Given the description of an element on the screen output the (x, y) to click on. 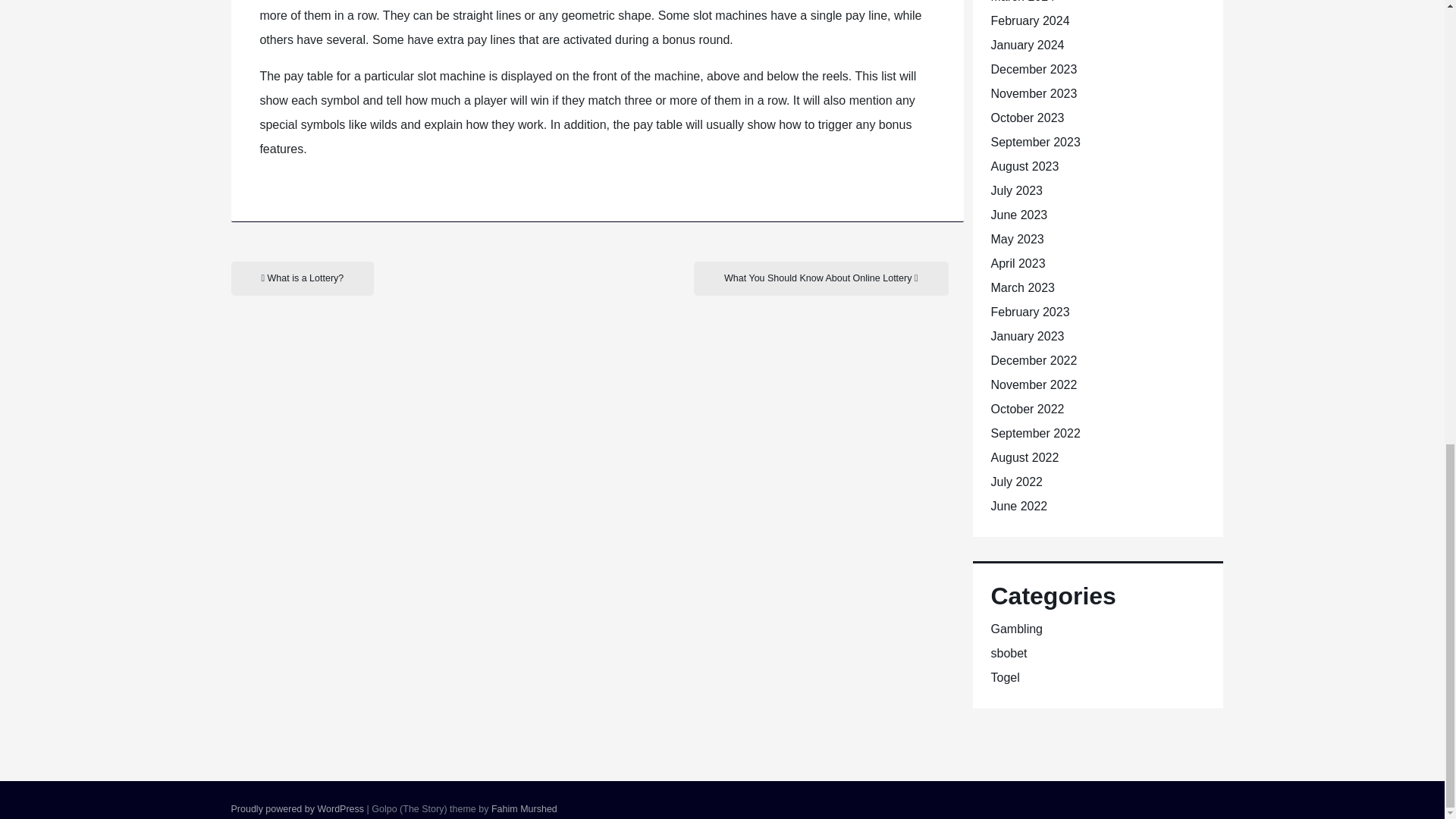
September 2023 (1035, 141)
April 2023 (1017, 263)
August 2022 (1024, 457)
February 2023 (1029, 311)
November 2022 (1033, 384)
June 2023 (1018, 214)
What You Should Know About Online Lottery (820, 278)
What is a Lottery? (302, 278)
September 2022 (1035, 432)
November 2023 (1033, 92)
January 2023 (1027, 336)
February 2024 (1029, 20)
December 2023 (1033, 69)
October 2023 (1027, 117)
July 2023 (1016, 190)
